Given the description of an element on the screen output the (x, y) to click on. 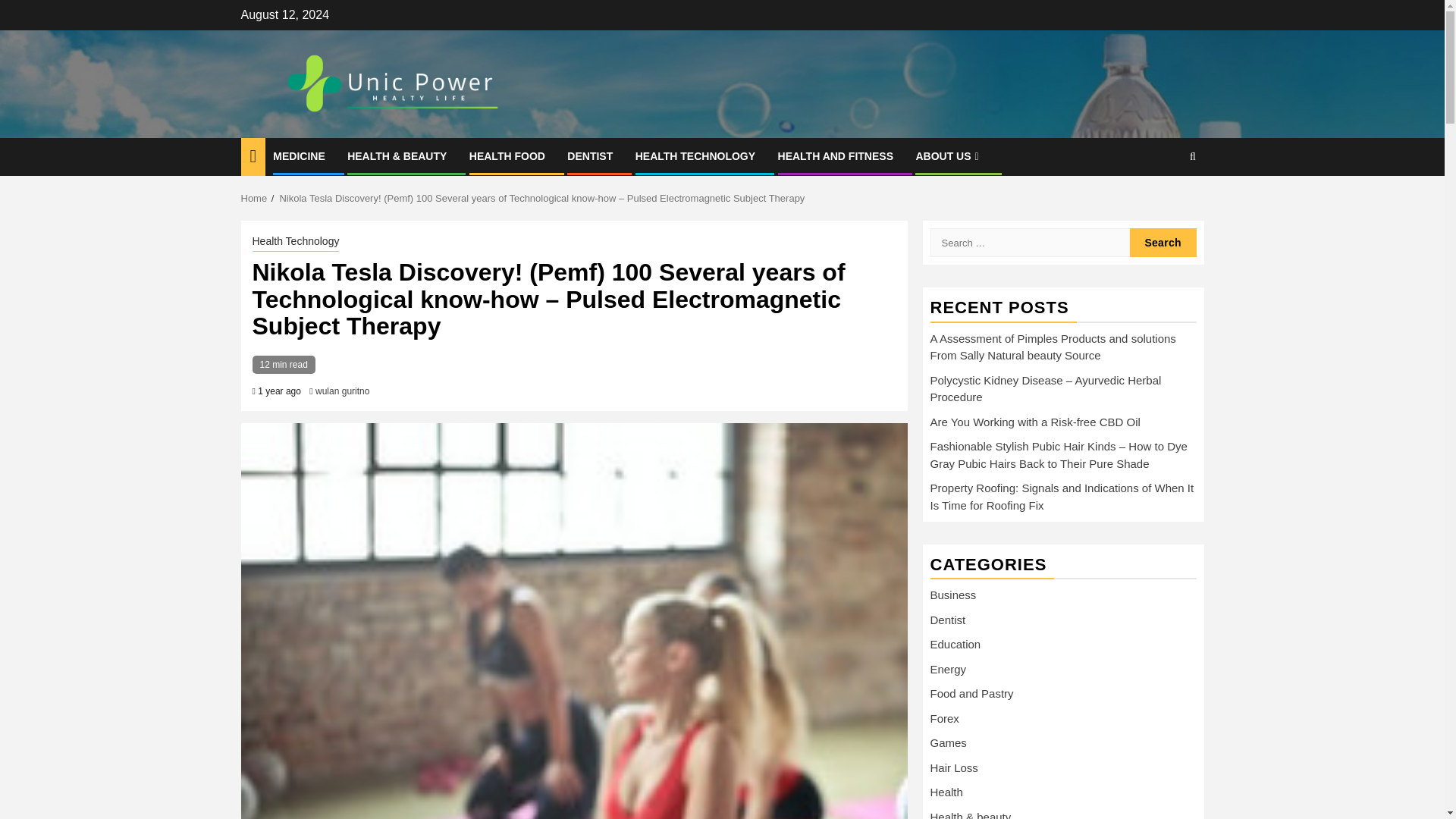
Search (1162, 242)
ABOUT US (948, 155)
Search (1162, 242)
Home (254, 197)
wulan guritno (342, 390)
Health Technology (295, 242)
HEALTH FOOD (506, 155)
Search (1163, 203)
Search (1162, 242)
